Given the description of an element on the screen output the (x, y) to click on. 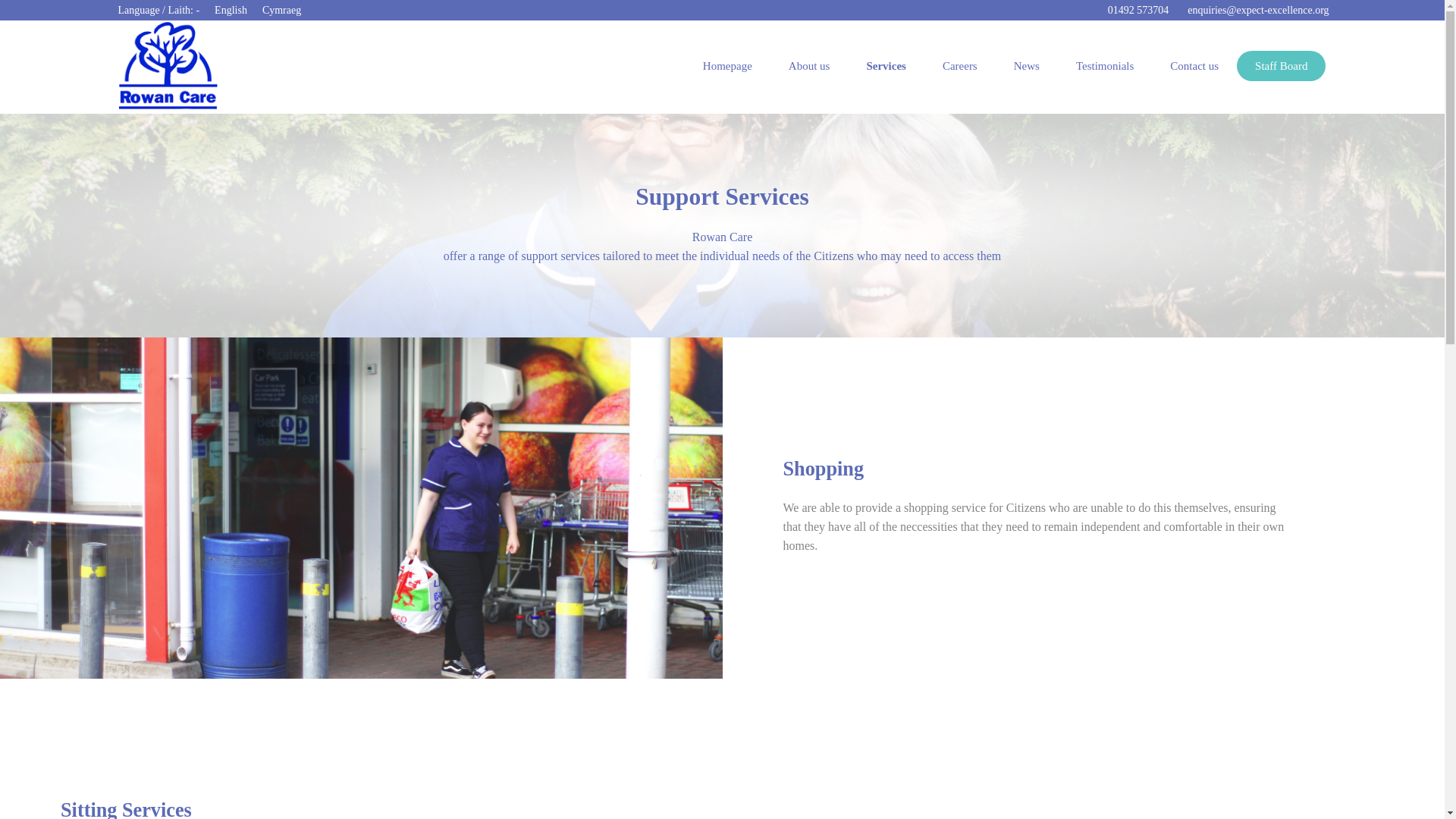
Staff Board (1280, 65)
English (230, 10)
About us (809, 65)
Cymraeg (281, 10)
Testimonials (1104, 65)
Services (885, 65)
News (1026, 65)
Contact us (1193, 65)
01492 573704 (1136, 10)
Homepage (727, 65)
Careers (959, 65)
